Given the description of an element on the screen output the (x, y) to click on. 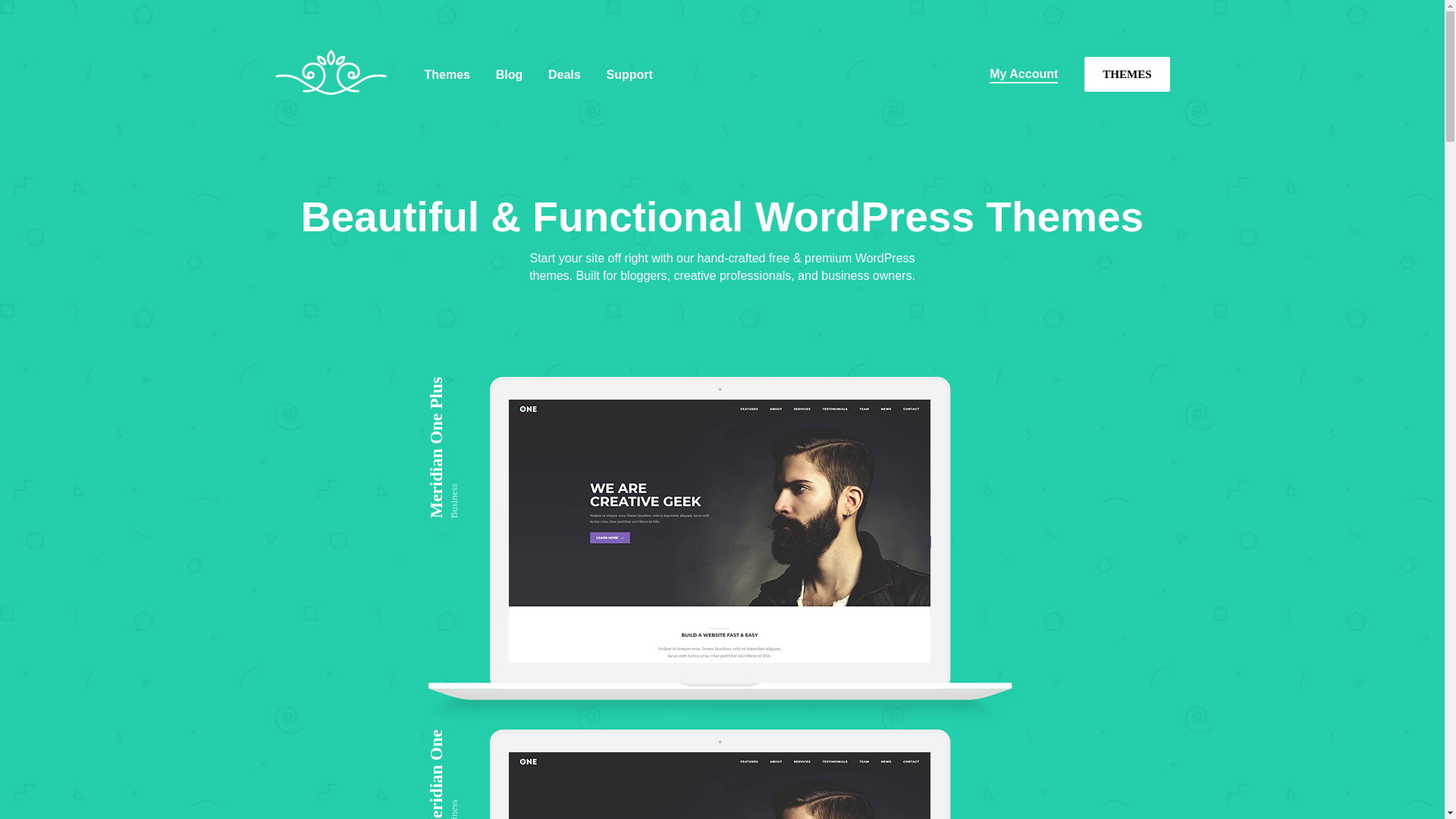
MERIDIANTHEMES (336, 117)
Themes (447, 74)
Deals (564, 74)
Blog (509, 74)
Support (628, 74)
THEMES (1126, 73)
My Account (1024, 74)
